Given the description of an element on the screen output the (x, y) to click on. 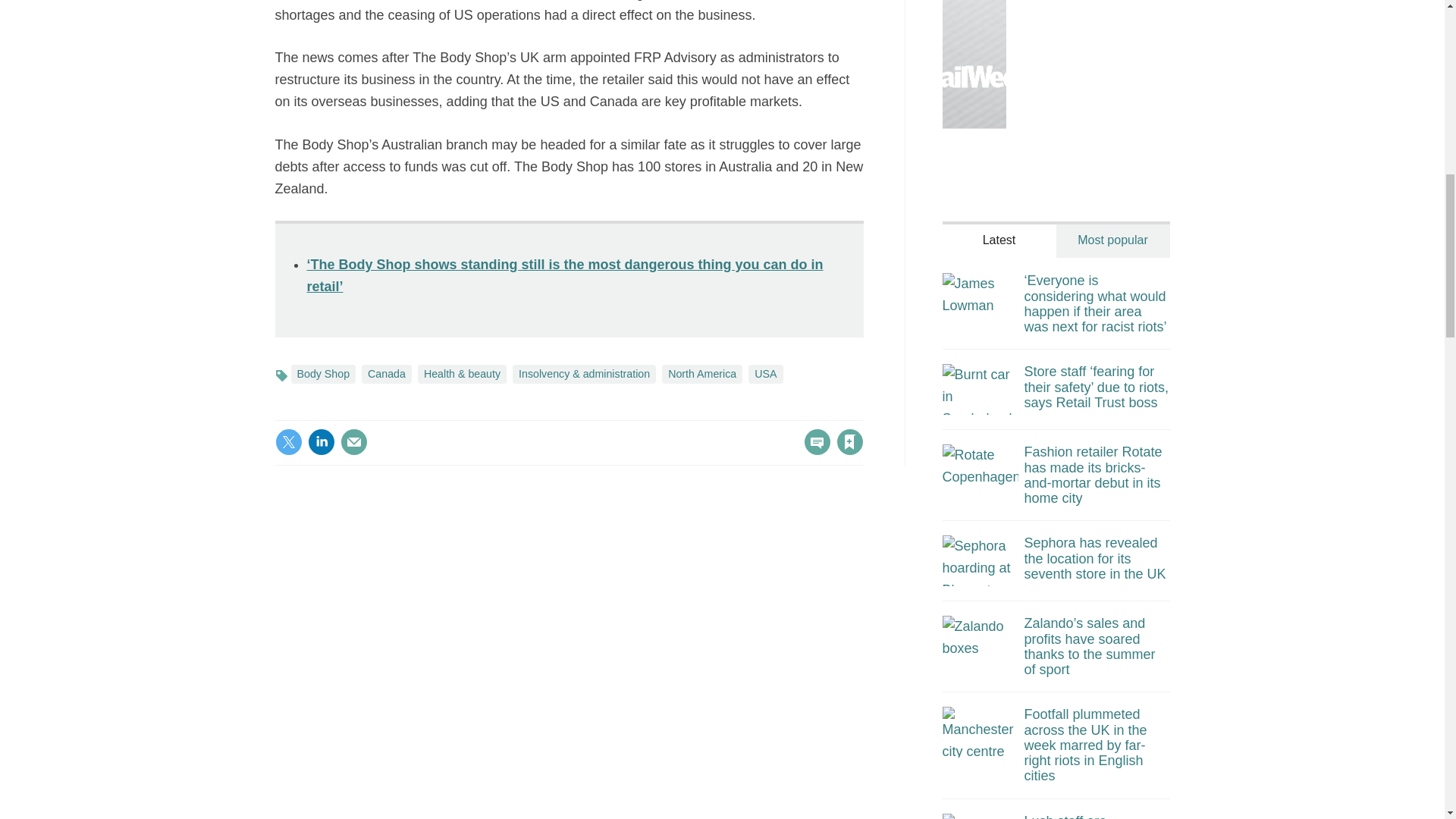
Share this on Twitter (288, 441)
No comments (812, 450)
Email this article (352, 441)
Share this on Linked in (320, 441)
